Given the description of an element on the screen output the (x, y) to click on. 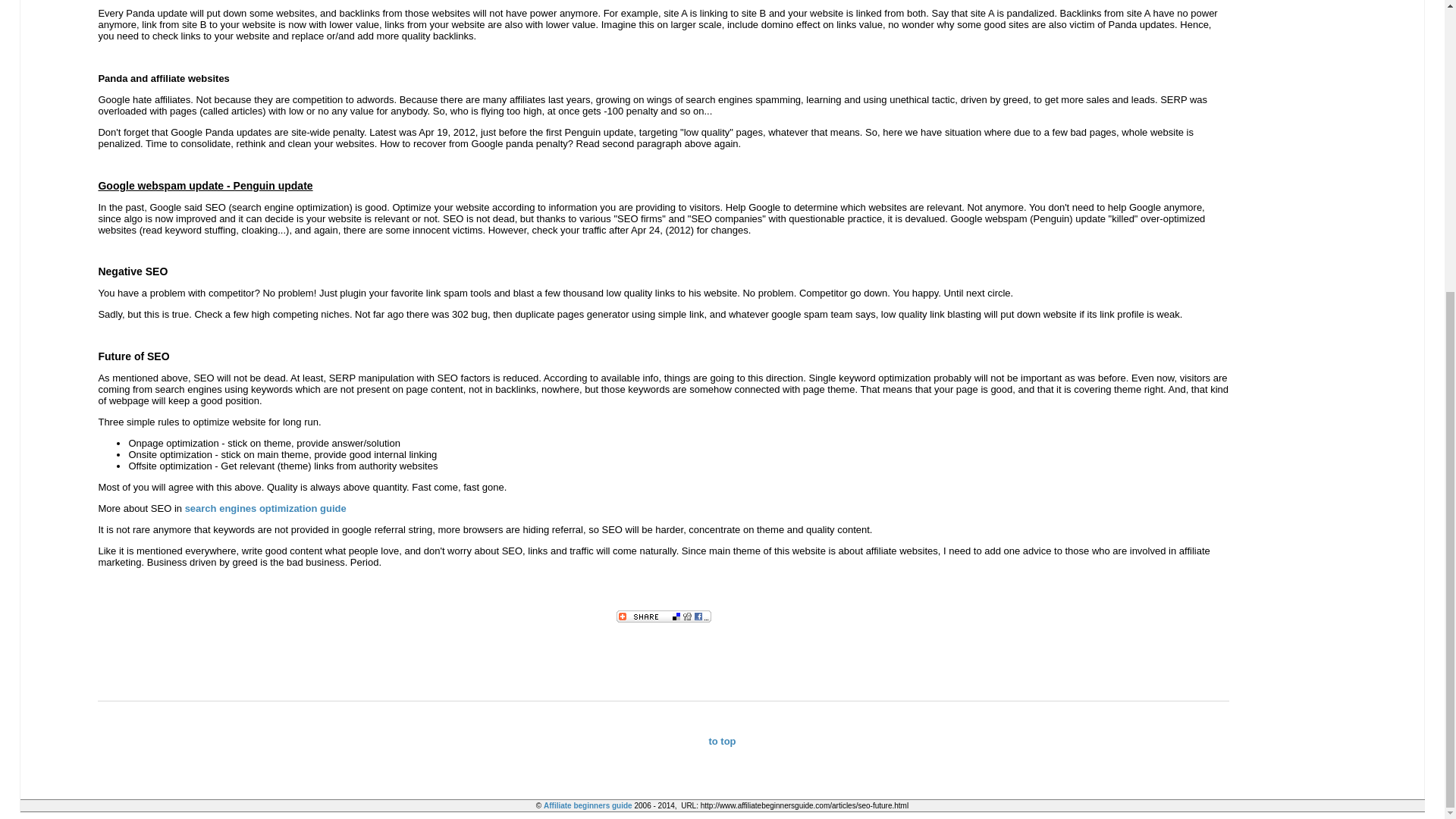
to top (721, 740)
Affiliate beginners guide (587, 804)
search engines optimization guide (265, 508)
